Given the description of an element on the screen output the (x, y) to click on. 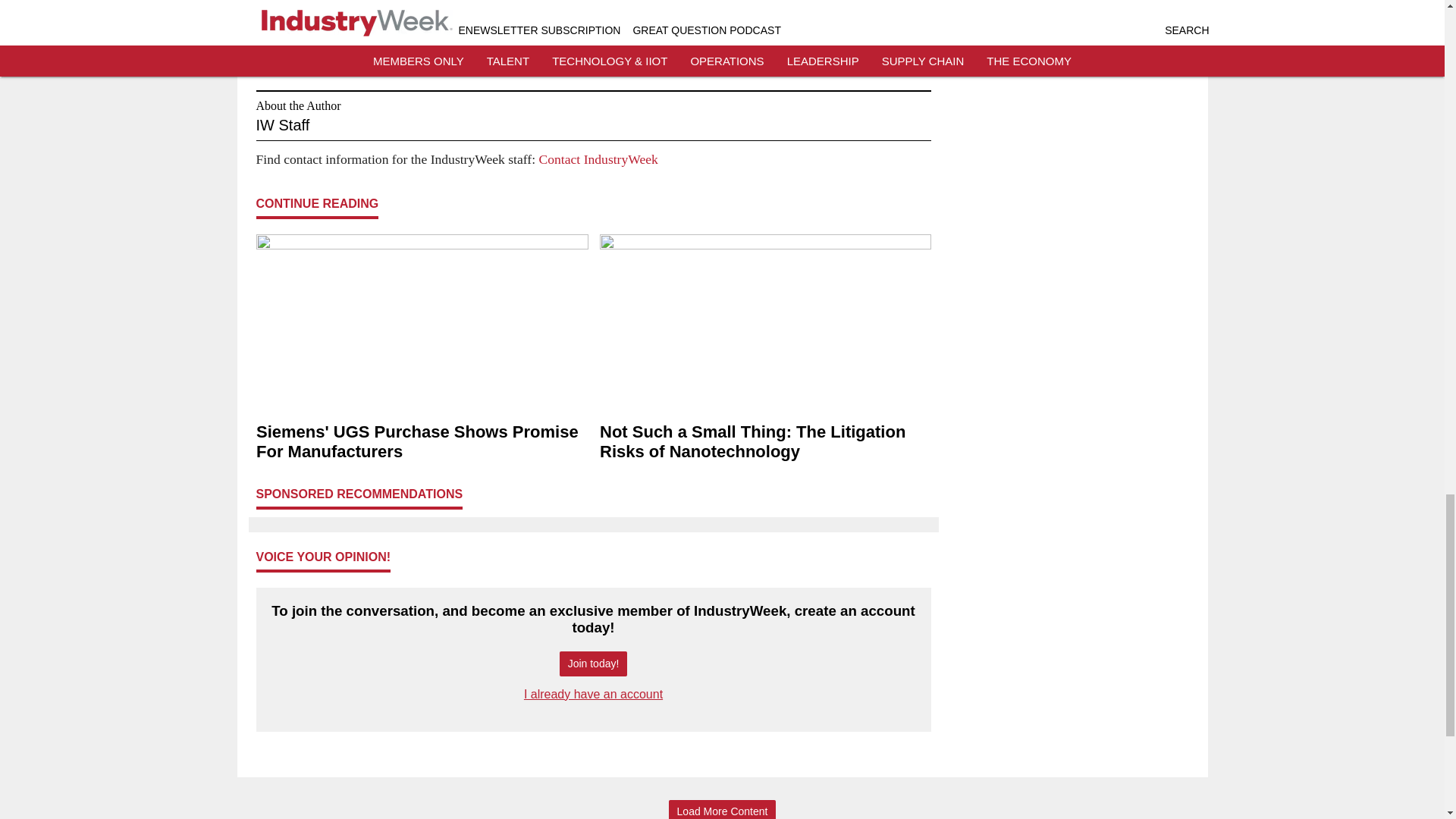
Siemens' UGS Purchase Shows Promise For Manufacturers (422, 441)
Join today! (593, 663)
Contact IndustryWeek (598, 159)
I already have an account (593, 694)
